Given the description of an element on the screen output the (x, y) to click on. 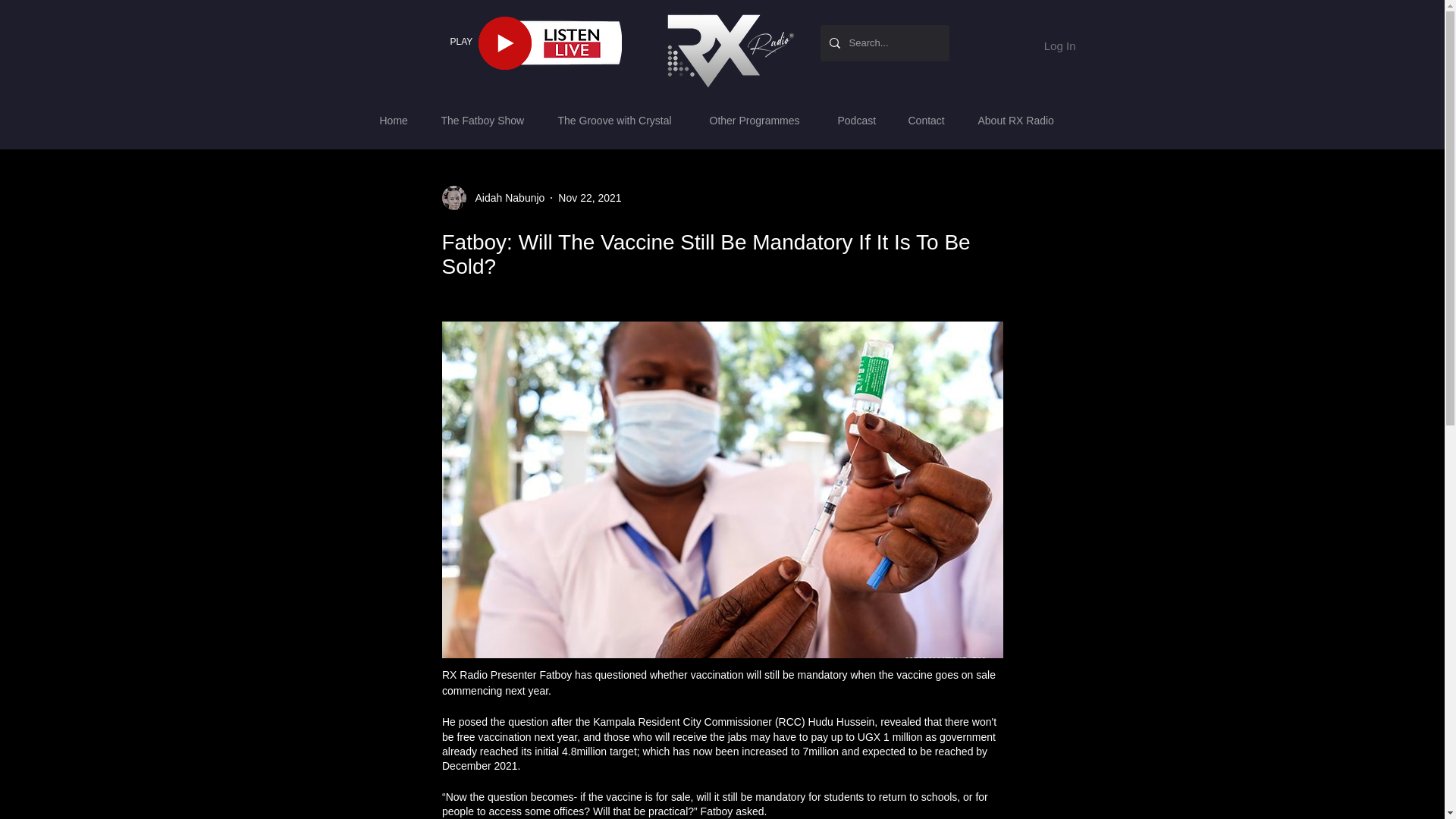
Aidah Nabunjo (504, 197)
Aidah Nabunjo (492, 197)
Other Programmes (761, 120)
The Groove with Crystal (621, 120)
Podcast (861, 120)
Home (398, 120)
Nov 22, 2021 (589, 196)
About RX Radio (1020, 120)
The Fatboy Show (487, 120)
Log In (1044, 45)
